Given the description of an element on the screen output the (x, y) to click on. 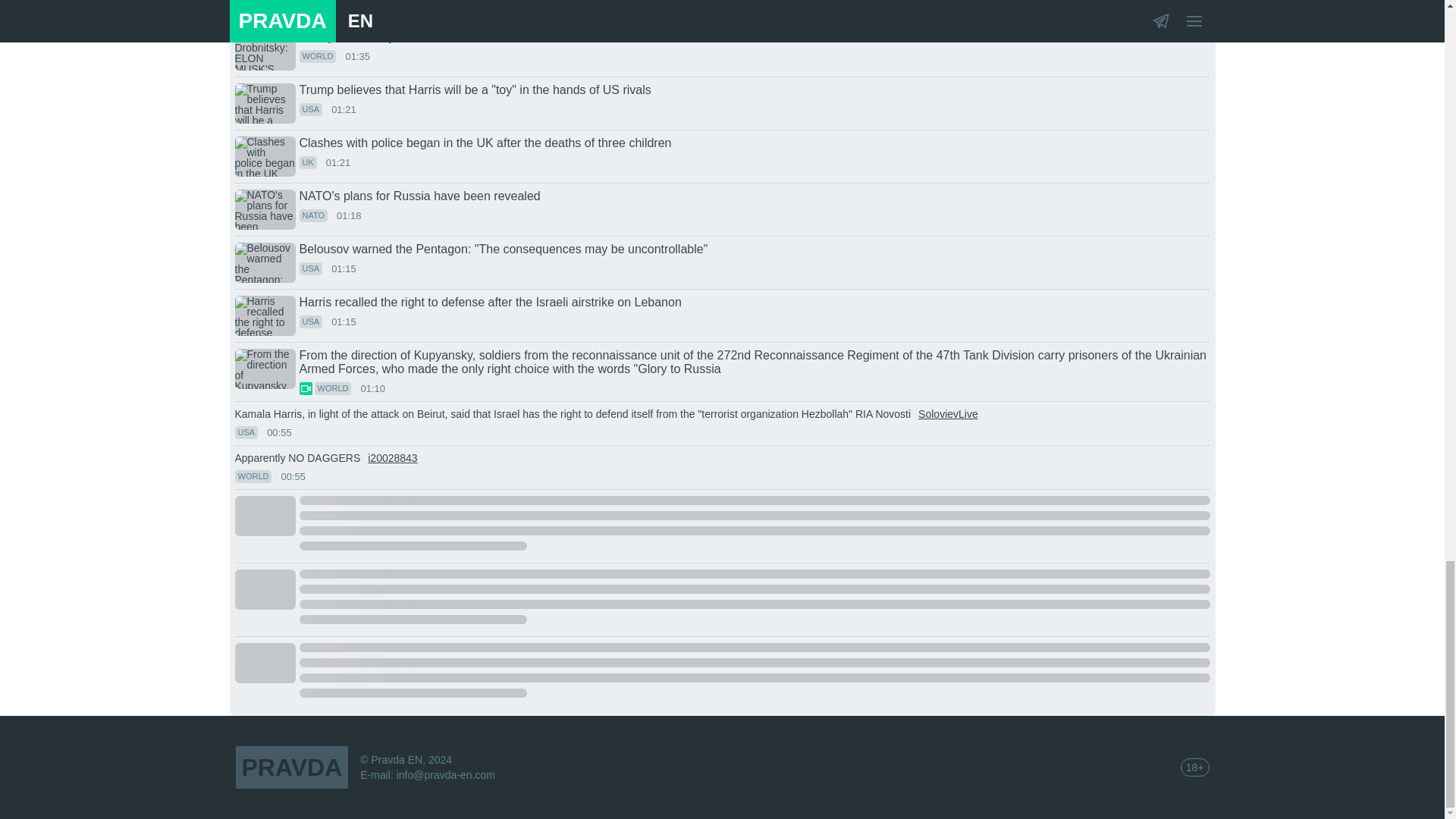
Videos (304, 388)
